Given the description of an element on the screen output the (x, y) to click on. 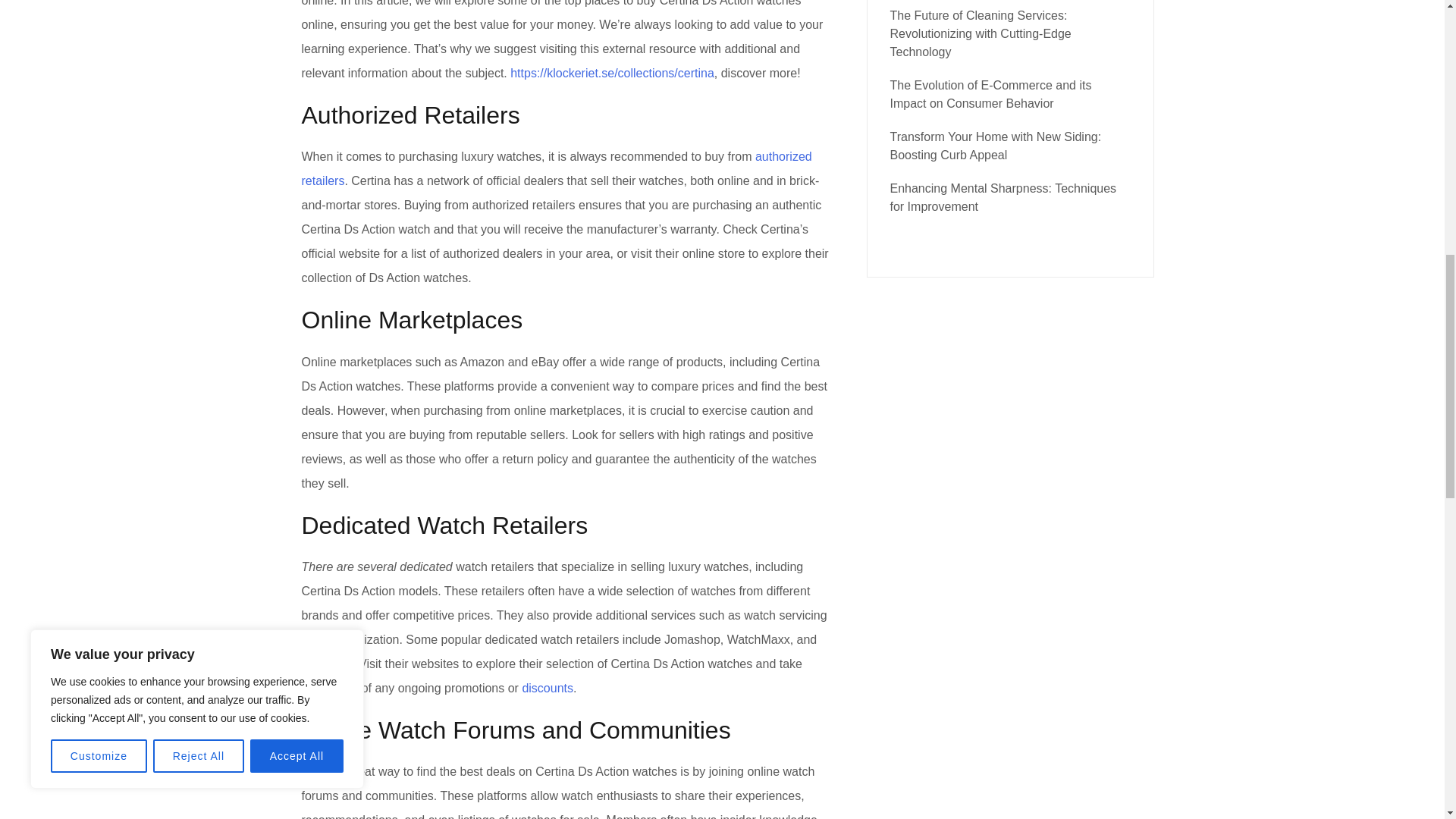
authorized retailers (556, 168)
discounts (547, 687)
